Given the description of an element on the screen output the (x, y) to click on. 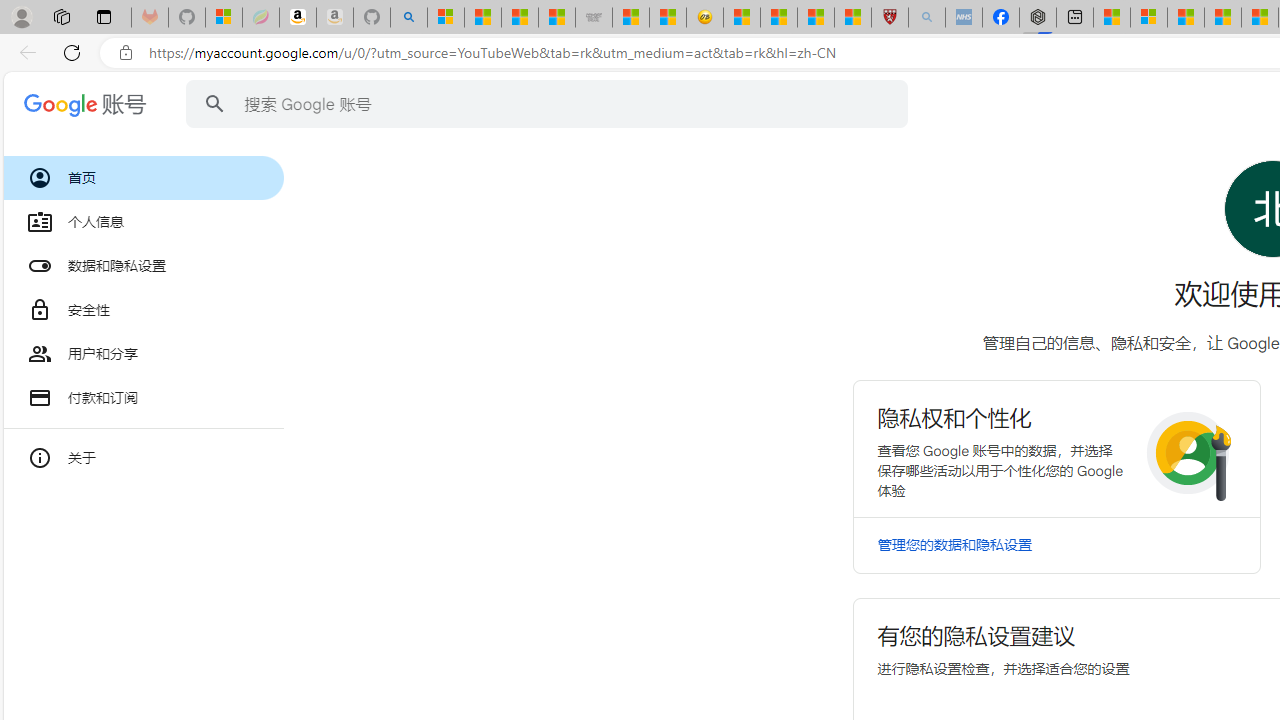
Combat Siege (593, 17)
Robert H. Shmerling, MD - Harvard Health (889, 17)
